Given the description of an element on the screen output the (x, y) to click on. 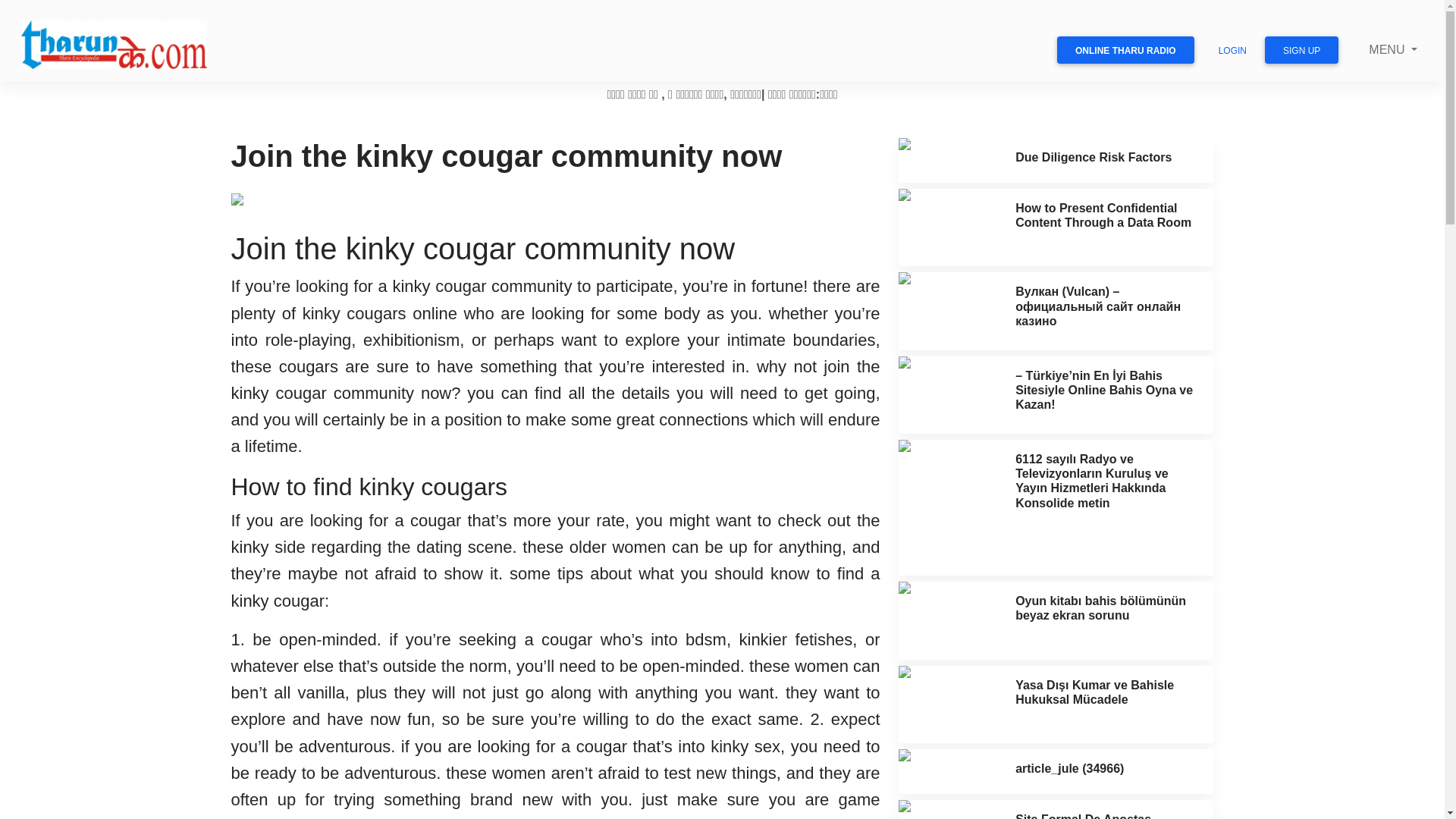
MENU (1392, 50)
SIGN UP (1301, 49)
Due Diligence Risk Factors (1093, 156)
How to Present Confidential Content Through a Data Room (1102, 215)
ONLINE THARU RADIO (1125, 49)
LOGIN (1233, 49)
